Given the description of an element on the screen output the (x, y) to click on. 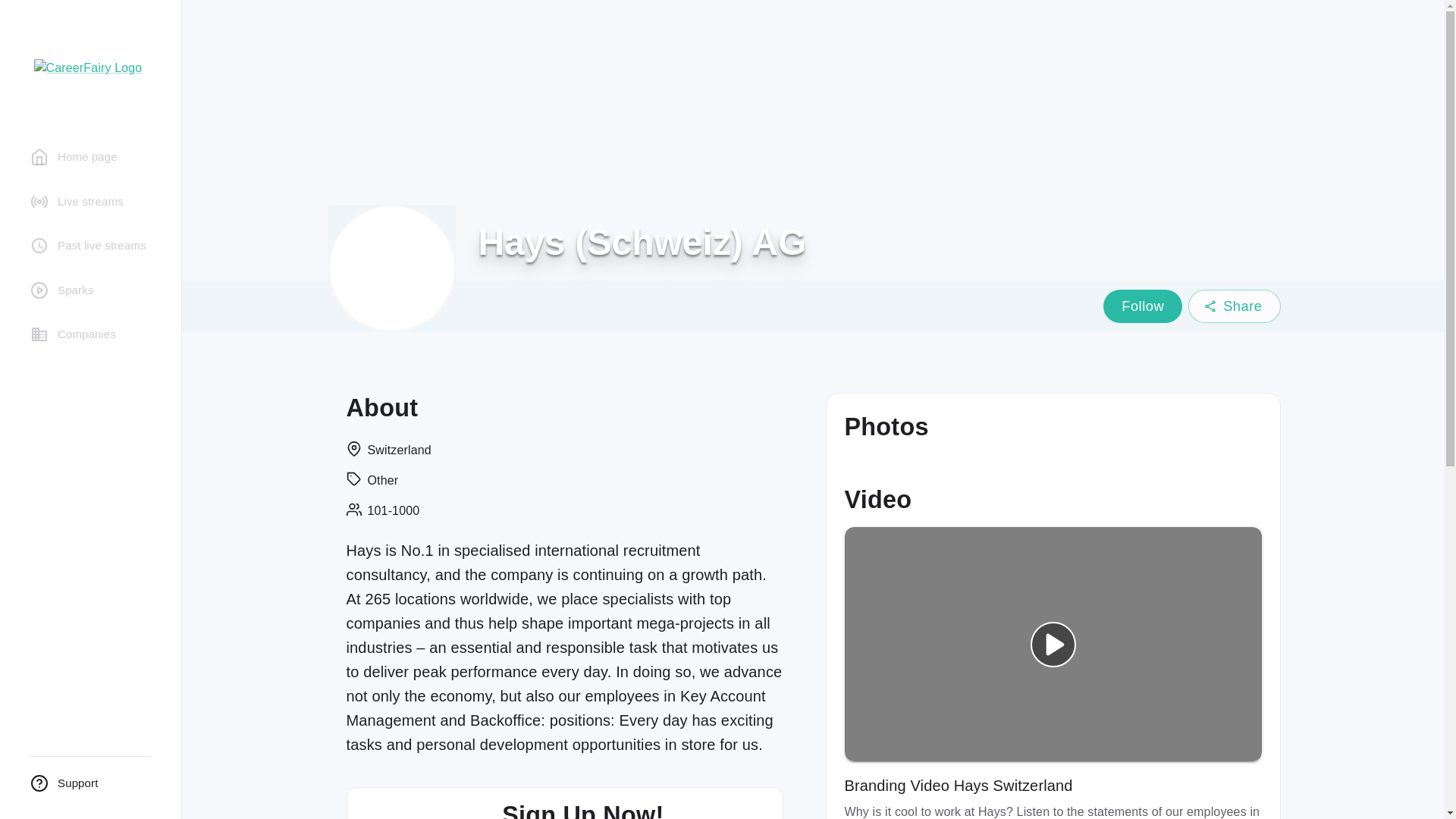
Share (1233, 305)
Sparks (90, 290)
Follow (1142, 305)
Live streams (90, 201)
Past live streams (90, 245)
Home page (90, 156)
Support (90, 783)
Companies (90, 334)
